Given the description of an element on the screen output the (x, y) to click on. 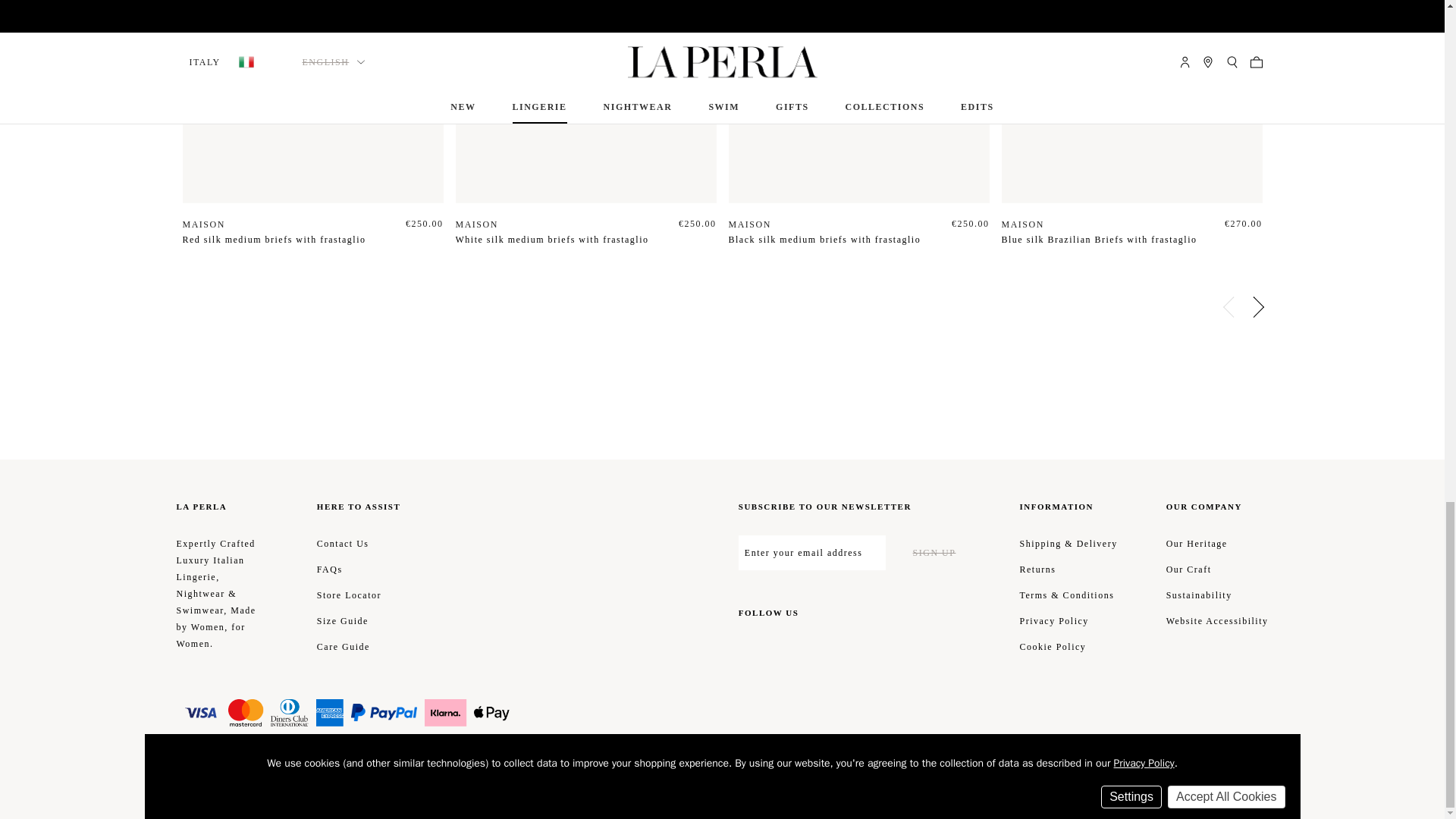
Sign Up (934, 552)
